Given the description of an element on the screen output the (x, y) to click on. 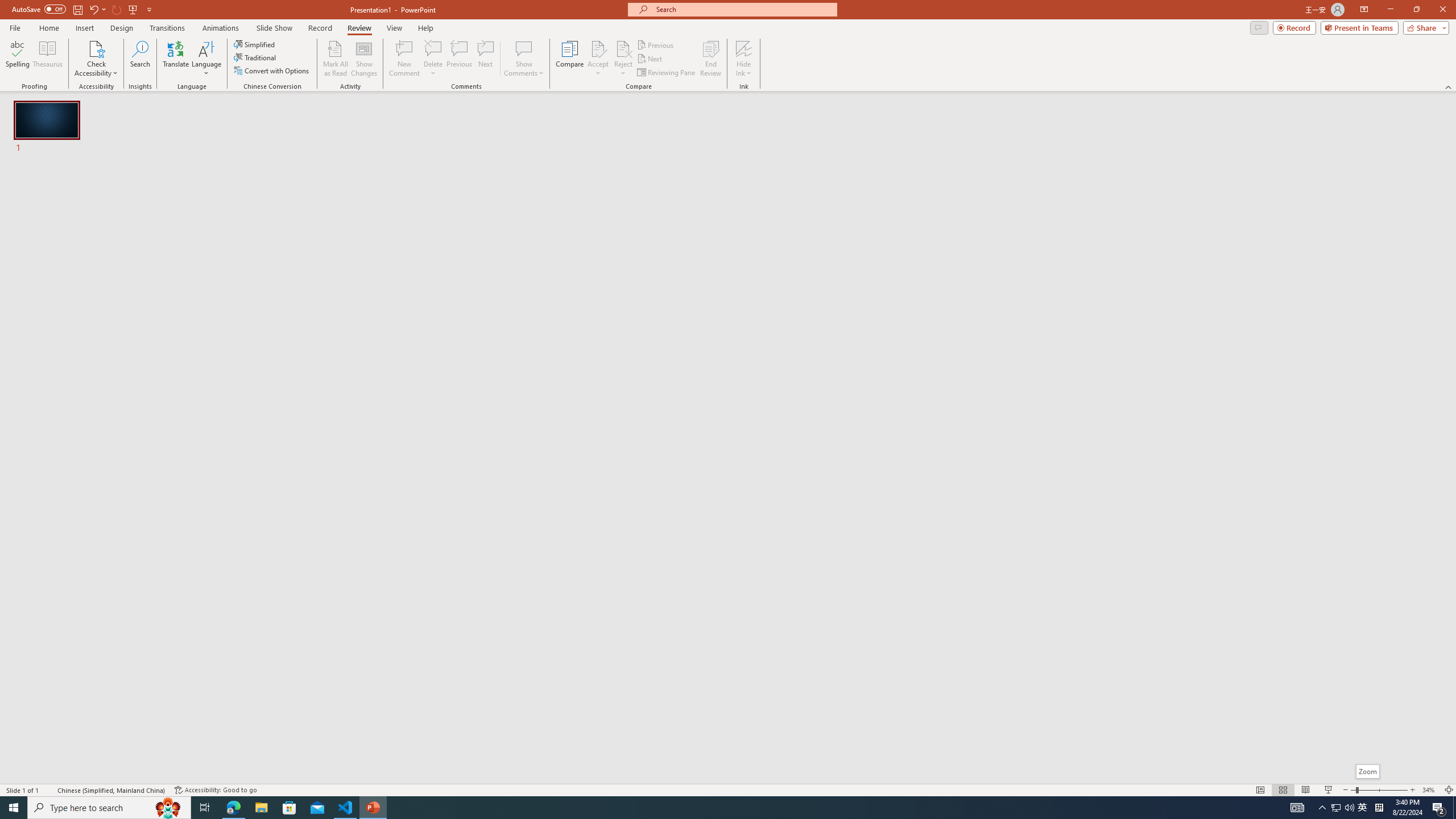
Accept (598, 58)
Traditional (255, 56)
